Given the description of an element on the screen output the (x, y) to click on. 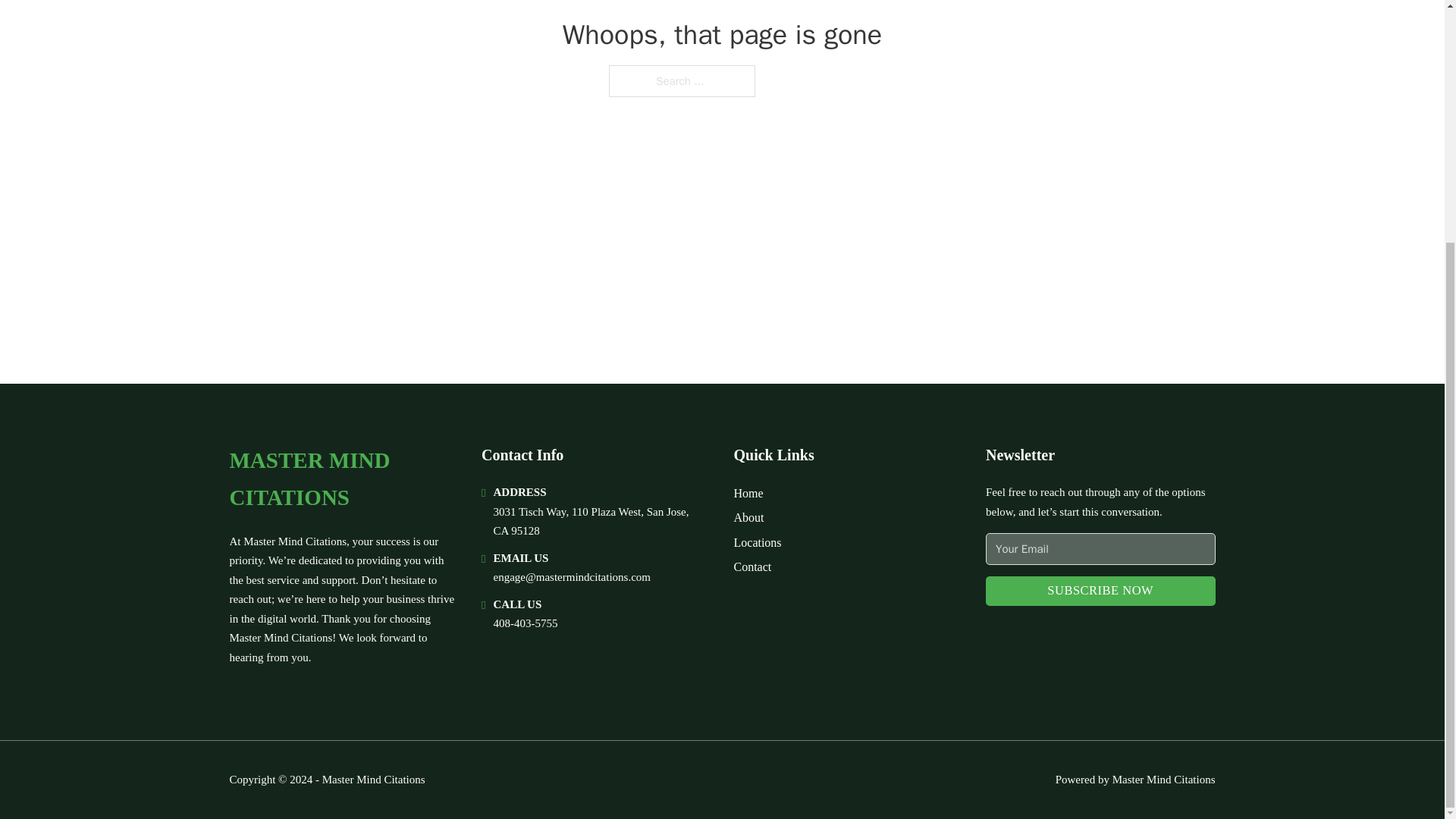
Locations (757, 542)
Contact (752, 566)
SUBSCRIBE NOW (1100, 591)
408-403-5755 (525, 623)
Home (747, 493)
MASTER MIND CITATIONS (343, 479)
About (748, 516)
